Given the description of an element on the screen output the (x, y) to click on. 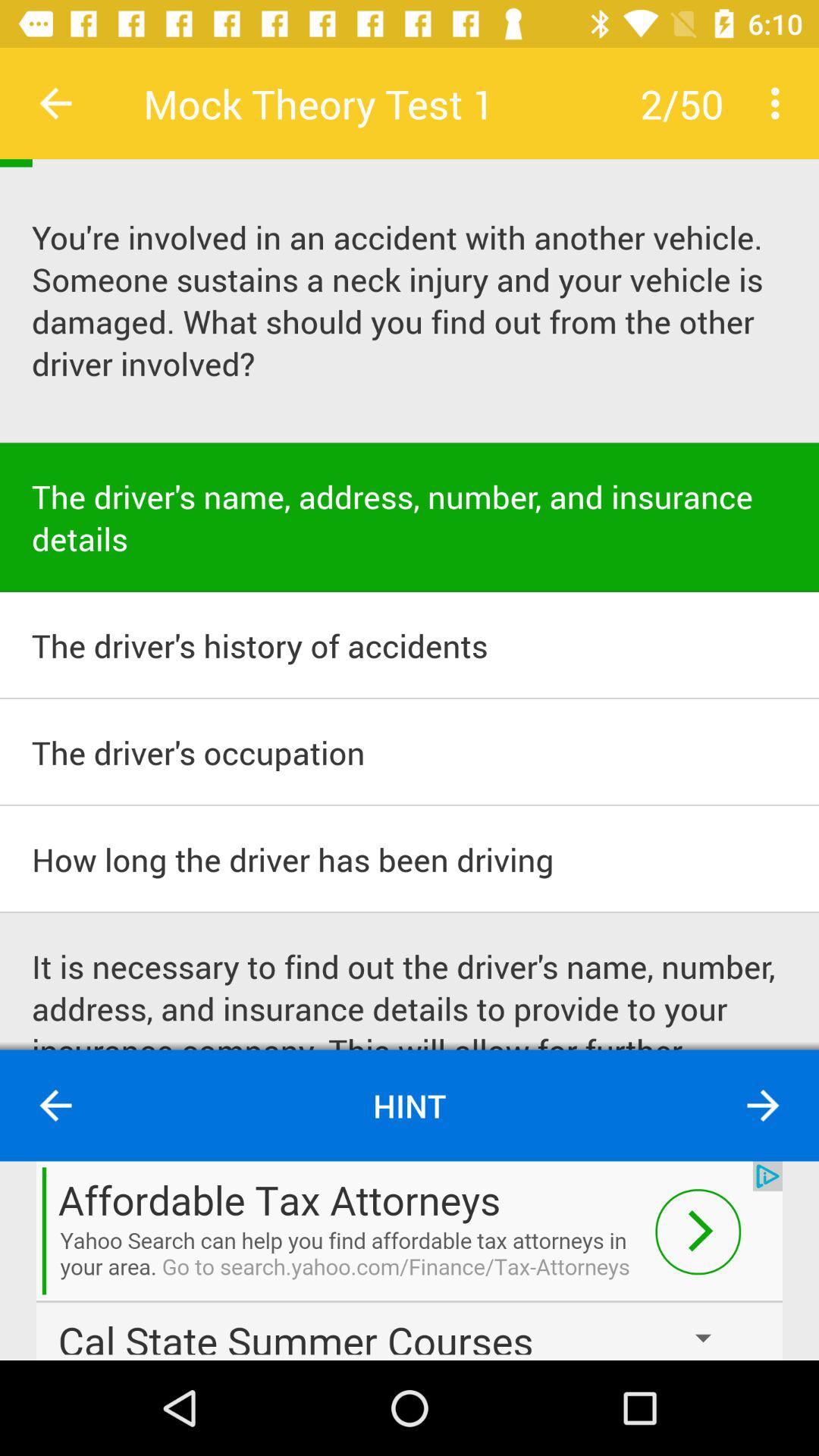
go to previous (55, 1105)
